Given the description of an element on the screen output the (x, y) to click on. 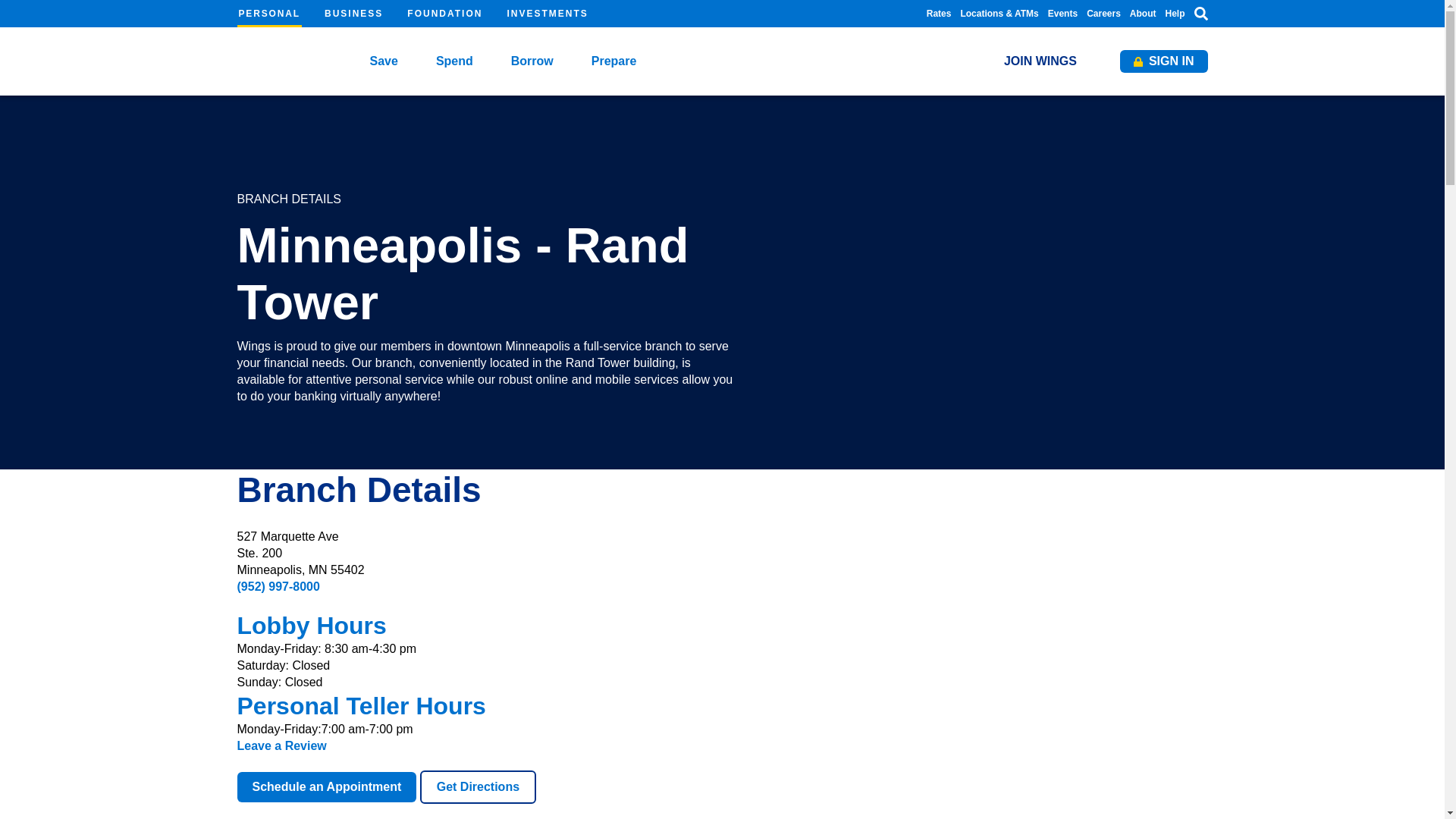
Careers (1103, 12)
Events (1062, 12)
PERSONAL (268, 13)
Save (384, 61)
Rates (939, 12)
INVESTMENTS (547, 13)
BUSINESS (353, 13)
About (1142, 12)
Spend (454, 61)
FOUNDATION (444, 13)
Help (1174, 12)
